Given the description of an element on the screen output the (x, y) to click on. 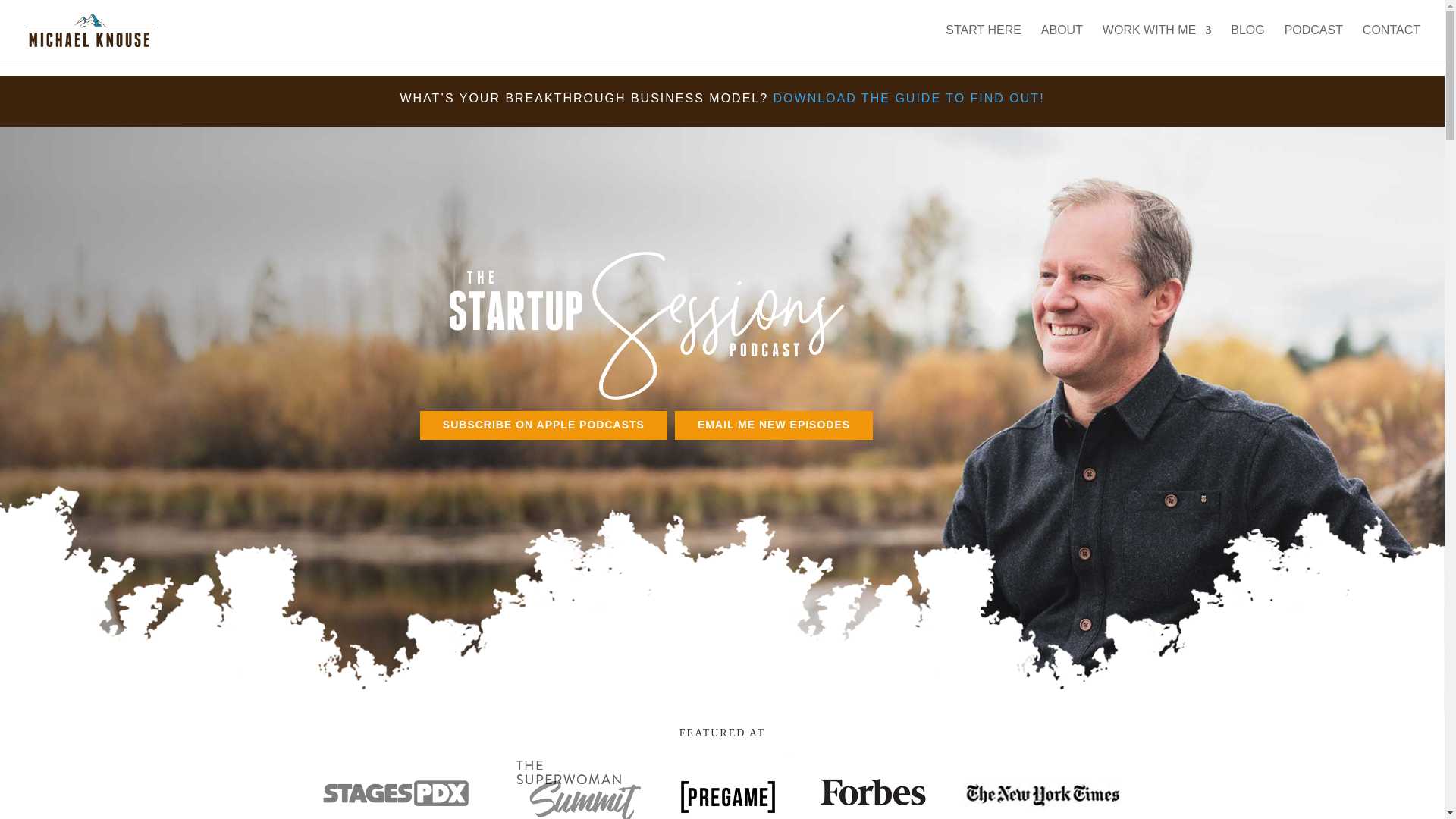
START HERE (983, 42)
DOWNLOAD THE GUIDE TO FIND OUT! (909, 97)
WORK WITH ME (1156, 42)
CONTACT (1391, 42)
BLOG (1246, 42)
PODCAST (1313, 42)
ABOUT (1062, 42)
